Given the description of an element on the screen output the (x, y) to click on. 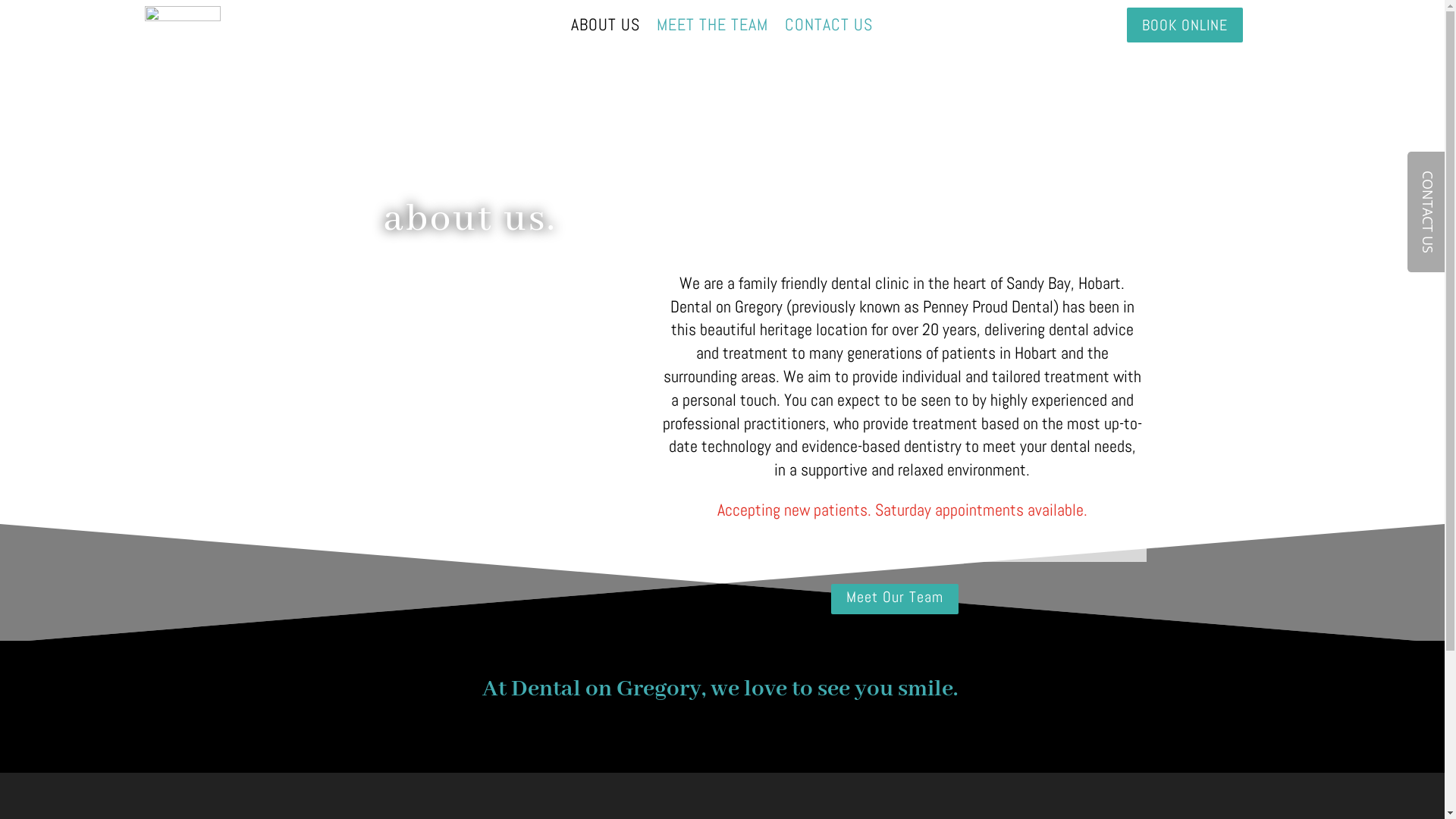
MEET THE TEAM Element type: text (712, 27)
Meet Our Team Element type: text (894, 598)
BOOK ONLINE Element type: text (1184, 24)
ABOUT US Element type: text (605, 27)
CONTACT US Element type: text (828, 27)
